Given the description of an element on the screen output the (x, y) to click on. 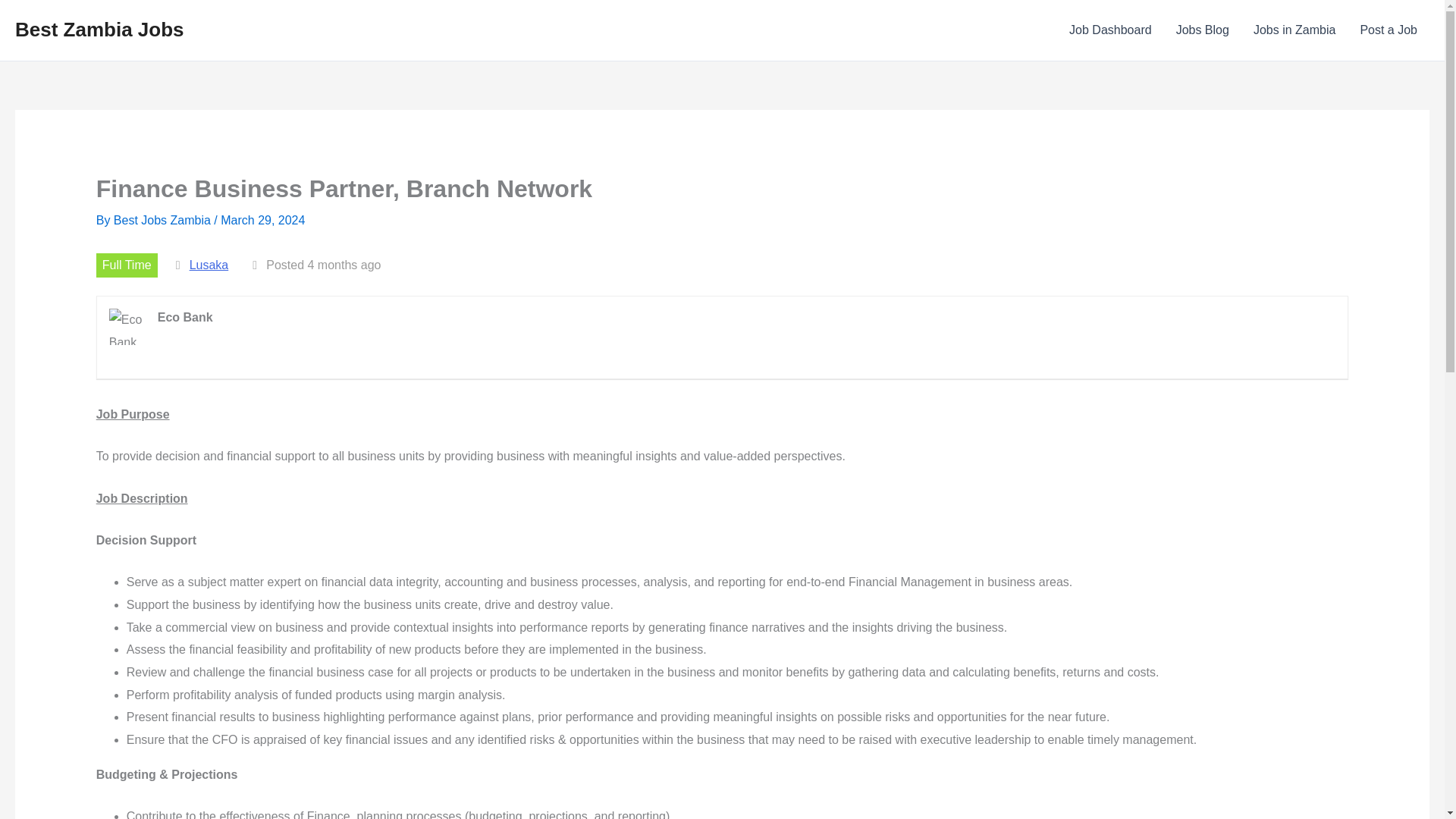
Job Dashboard (1110, 30)
Best Zambia Jobs (99, 29)
Jobs in Zambia (1294, 30)
Lusaka (208, 264)
Post a Job (1388, 30)
Jobs Blog (1202, 30)
View all posts by Best Jobs Zambia (163, 219)
Best Jobs Zambia (163, 219)
